Given the description of an element on the screen output the (x, y) to click on. 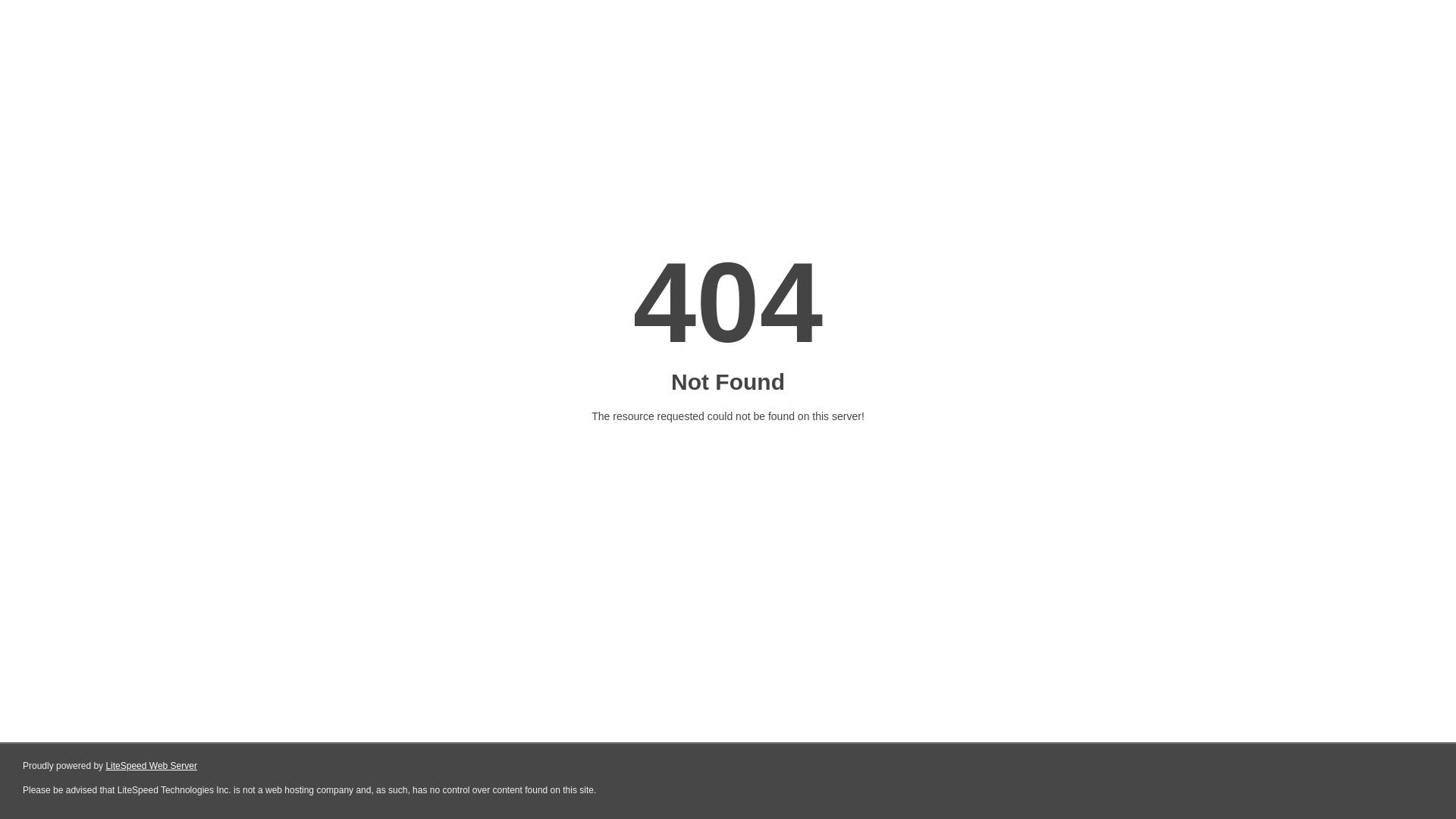
LiteSpeed Web Server Element type: text (151, 765)
